Given the description of an element on the screen output the (x, y) to click on. 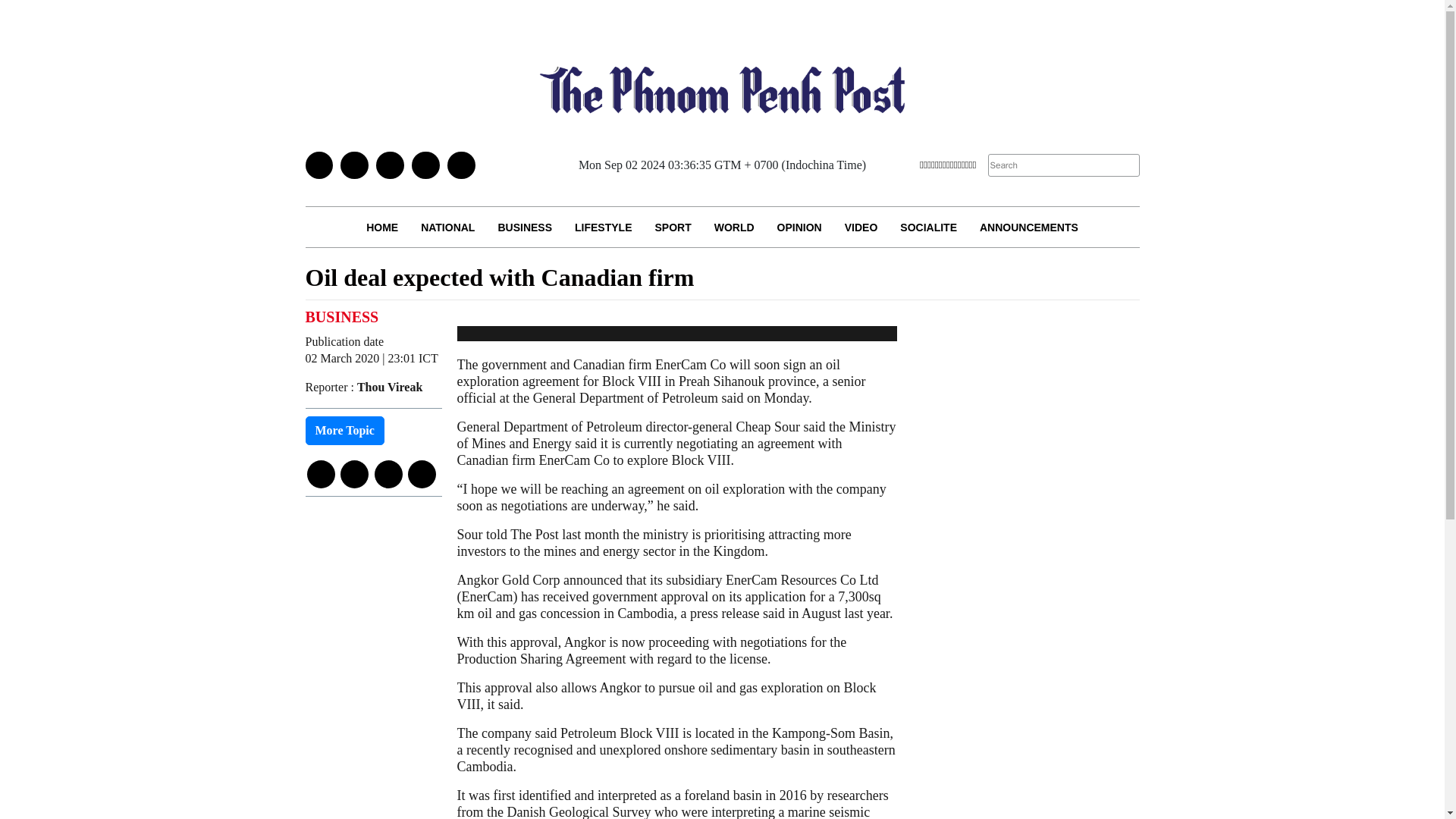
OPINION (798, 227)
VIDEO (860, 227)
More Topic (344, 430)
WORLD (734, 227)
SPORT (672, 227)
LIFESTYLE (603, 227)
NATIONAL (447, 227)
ANNOUNCEMENTS (1028, 227)
HOME (382, 227)
SOCIALITE (928, 227)
